Given the description of an element on the screen output the (x, y) to click on. 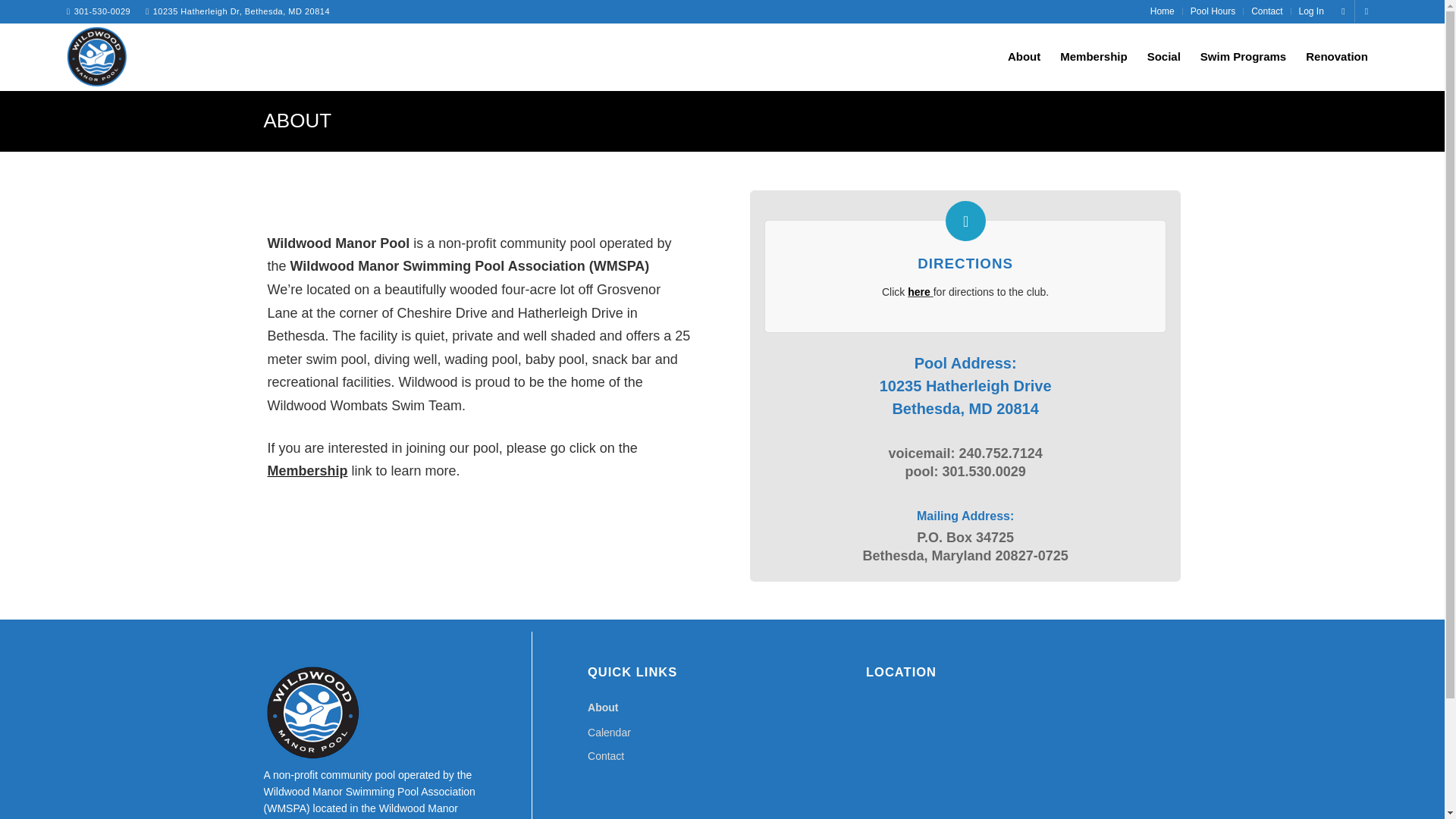
About (722, 707)
Membership (306, 470)
Renovation (1336, 56)
Membership (1093, 56)
wildwood-manor (97, 59)
Contact (1266, 11)
Calendar (722, 732)
Instagram (1366, 11)
ABOUT (297, 119)
wildwood-manor (97, 56)
